Given the description of an element on the screen output the (x, y) to click on. 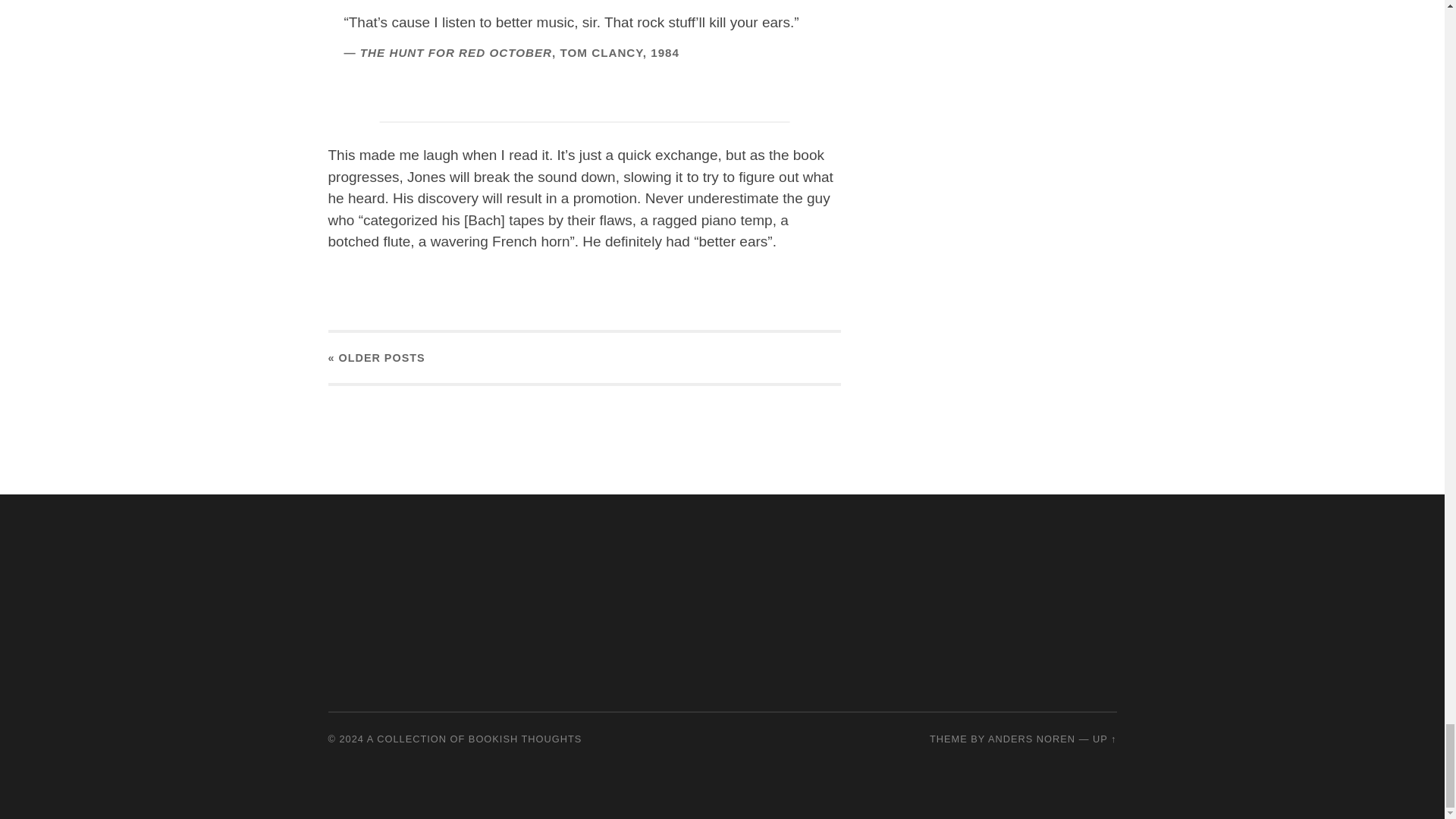
To the top (1104, 738)
